Given the description of an element on the screen output the (x, y) to click on. 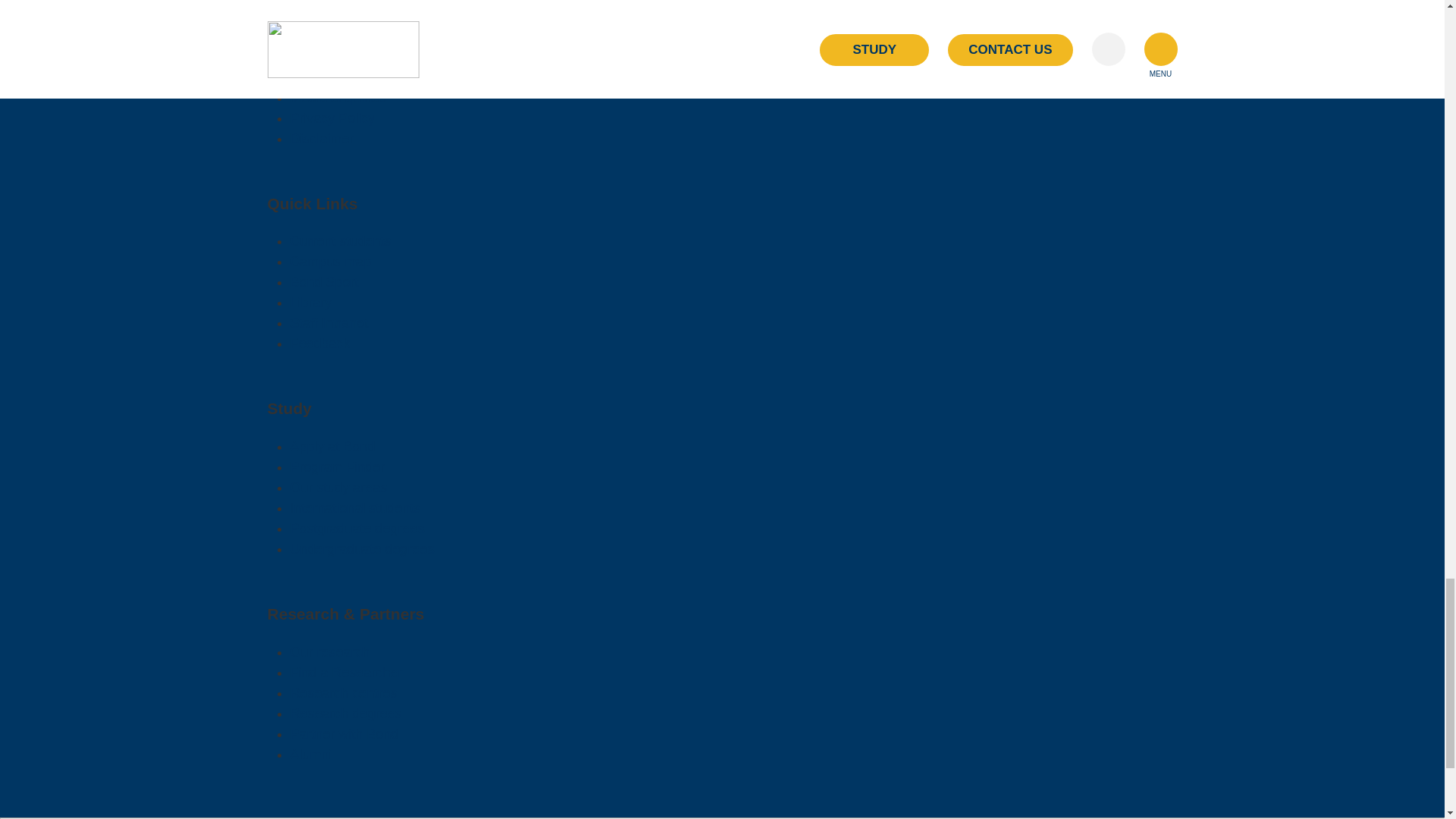
Careers at Bond (338, 77)
Bond Law Clinic Program (366, 15)
Feedback (319, 343)
Undergraduate degrees (361, 548)
Privacy Policy (331, 118)
Giving to Bond (333, 56)
Postgraduate degrees (356, 528)
Our research (329, 652)
Apply at Bond (331, 446)
Staff Intranet (328, 322)
Our study areas (338, 487)
Disclaimer (321, 138)
Contact us (322, 36)
Bond Sport (323, 281)
Campus map (330, 261)
